Given the description of an element on the screen output the (x, y) to click on. 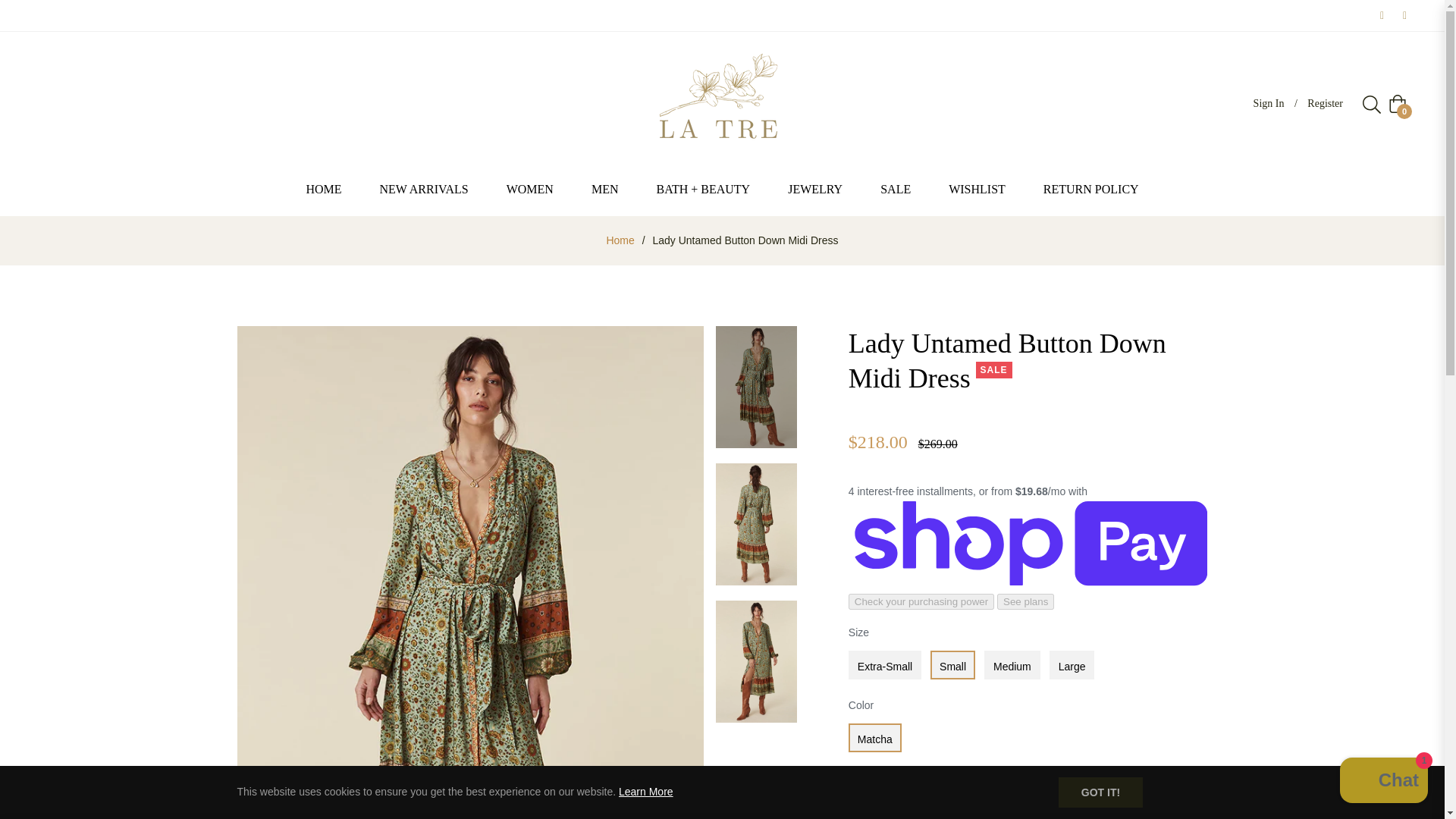
Shopping Cart (1397, 104)
SALE (895, 189)
JEWELRY (814, 189)
ADD TO CART (1002, 804)
Register (1325, 103)
RETURN POLICY (1091, 189)
NEW ARRIVALS (424, 189)
Home (620, 240)
MEN (604, 189)
WISHLIST (977, 189)
HOME (322, 189)
WOMEN (529, 189)
Shopify online store chat (1383, 781)
